Given the description of an element on the screen output the (x, y) to click on. 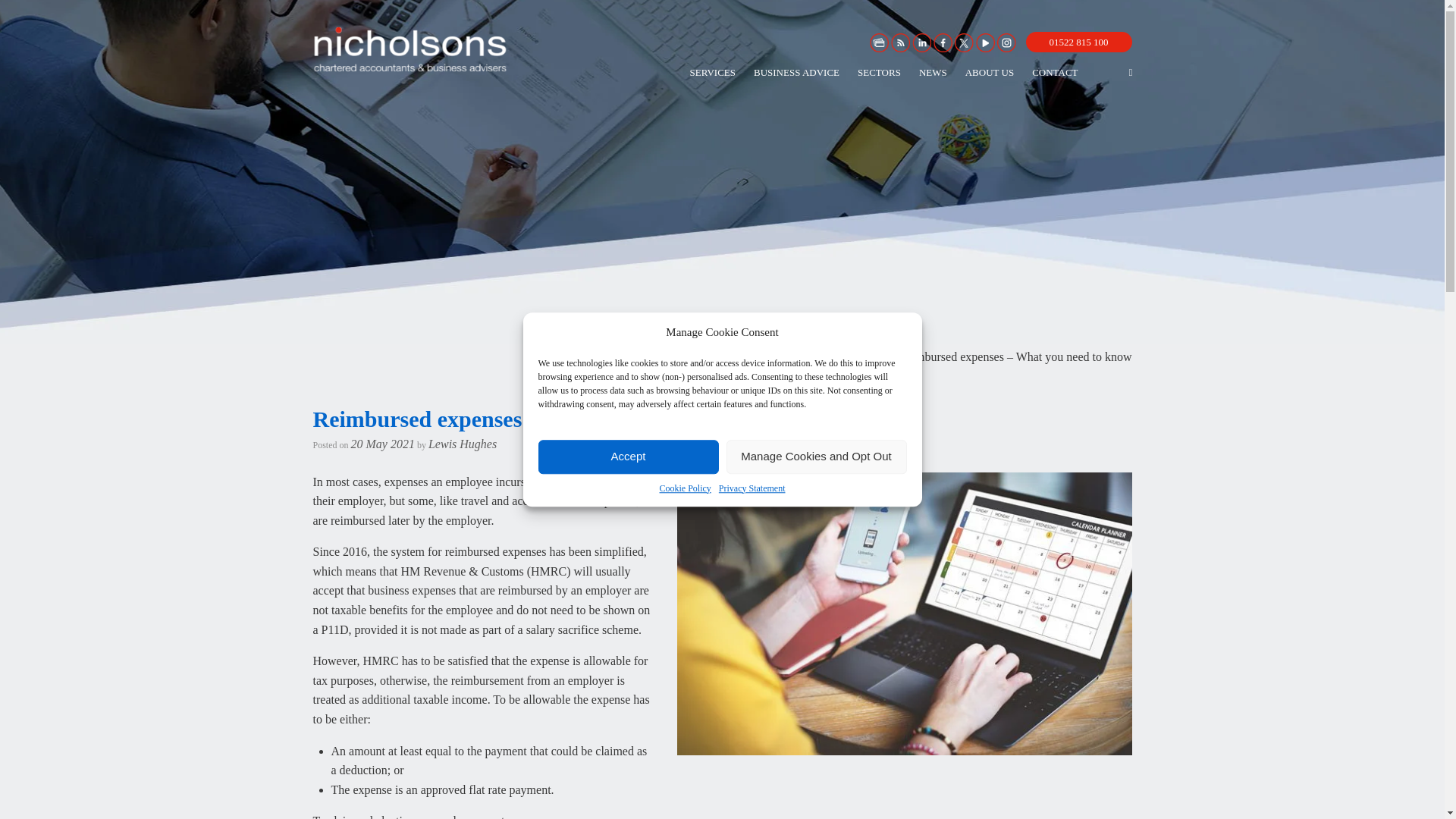
Manage Cookies and Opt Out (816, 456)
Go to Nicholsons Chartered Accountants. (708, 356)
Accept (628, 456)
Go to the Blog category archives. (873, 356)
View all posts by Lewis Hughes (462, 442)
3:51 pm (382, 442)
Privacy Statement (752, 488)
Cookie Policy (685, 488)
Nicholsons Chartered Accountants (409, 49)
Go to All news. (826, 356)
